Given the description of an element on the screen output the (x, y) to click on. 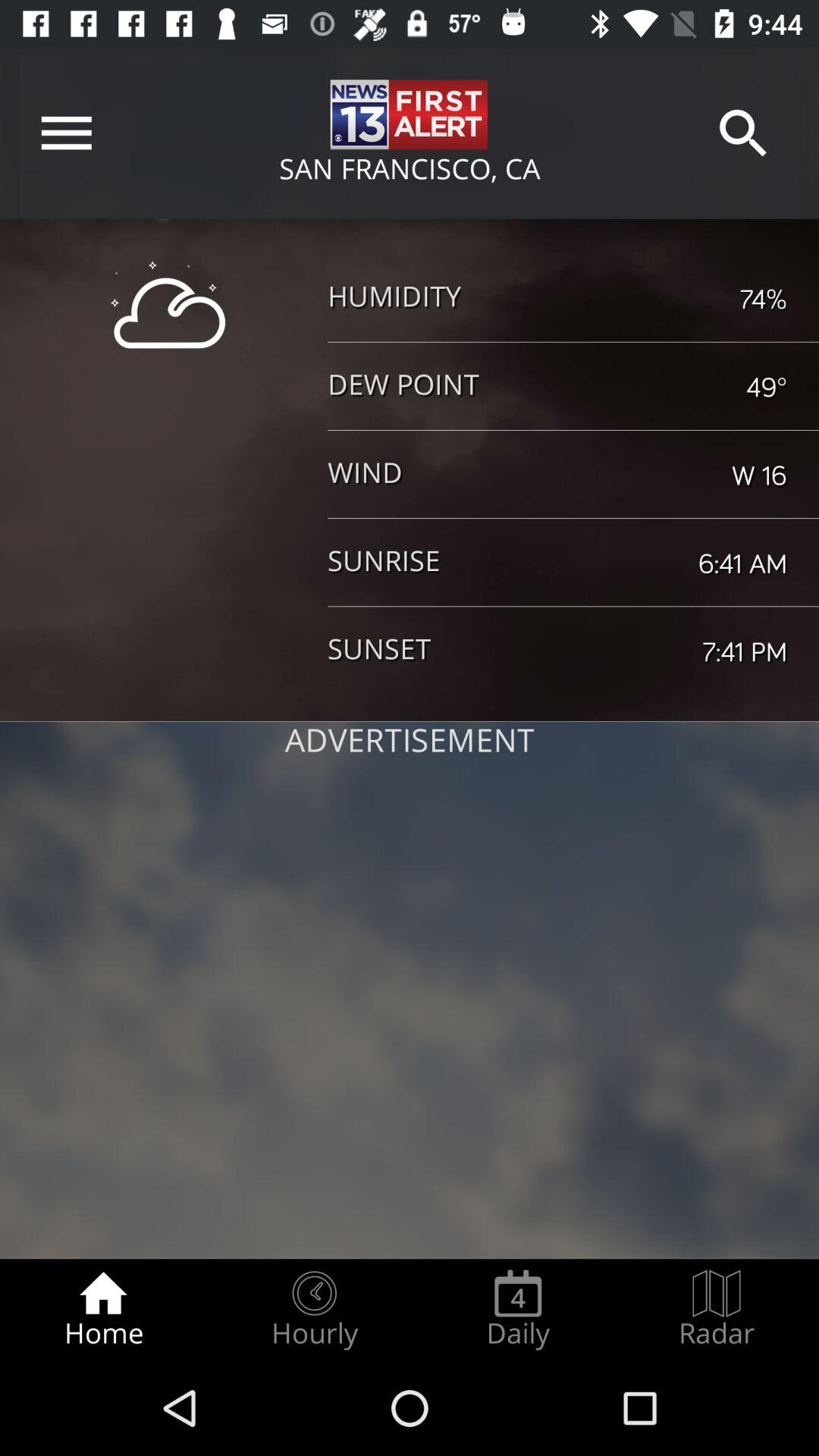
choose icon to the right of home item (314, 1309)
